Given the description of an element on the screen output the (x, y) to click on. 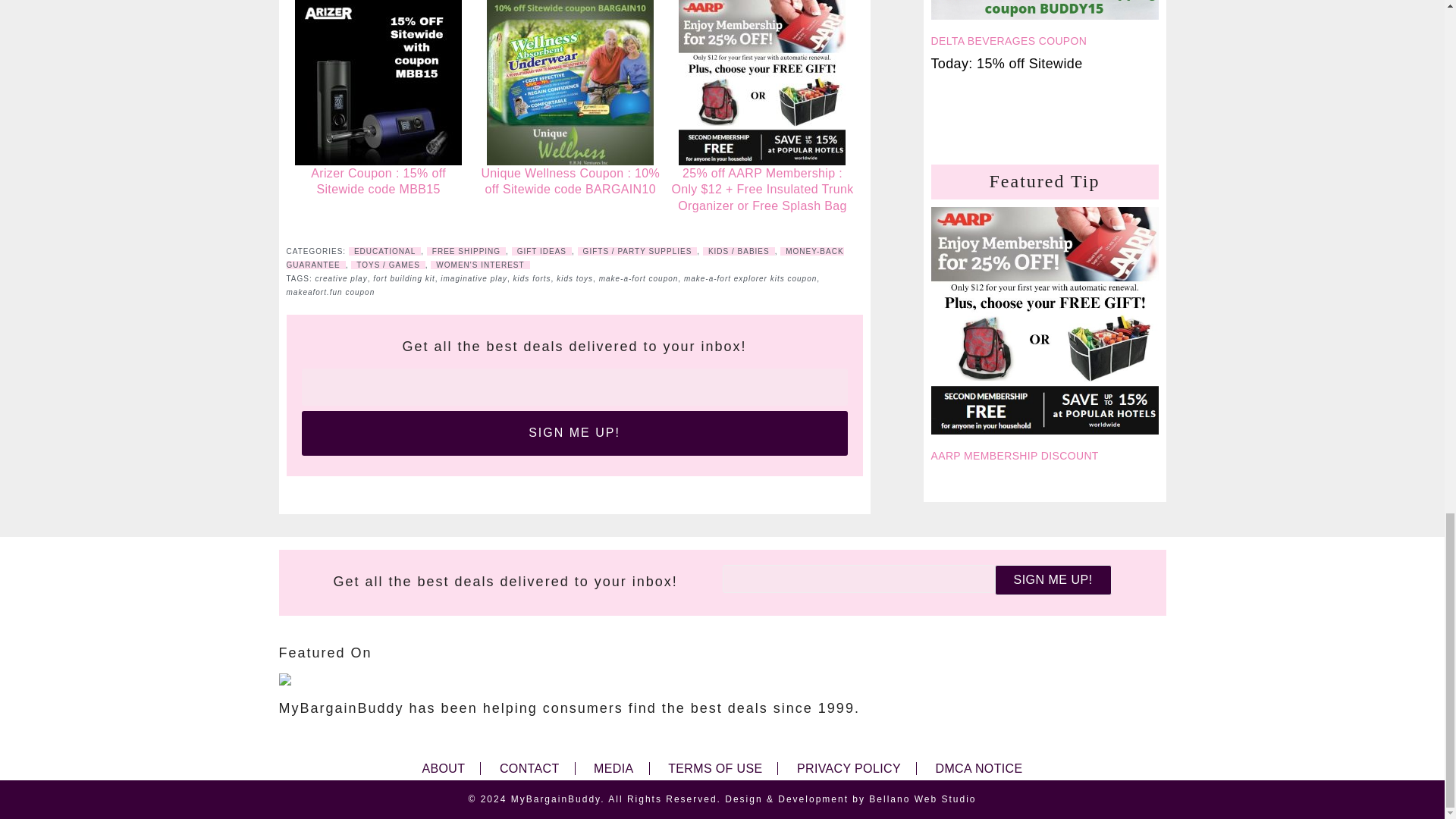
Sign Me Up! (1053, 580)
Sign Me Up! (574, 433)
AARP Membership Discount (1044, 324)
